Given the description of an element on the screen output the (x, y) to click on. 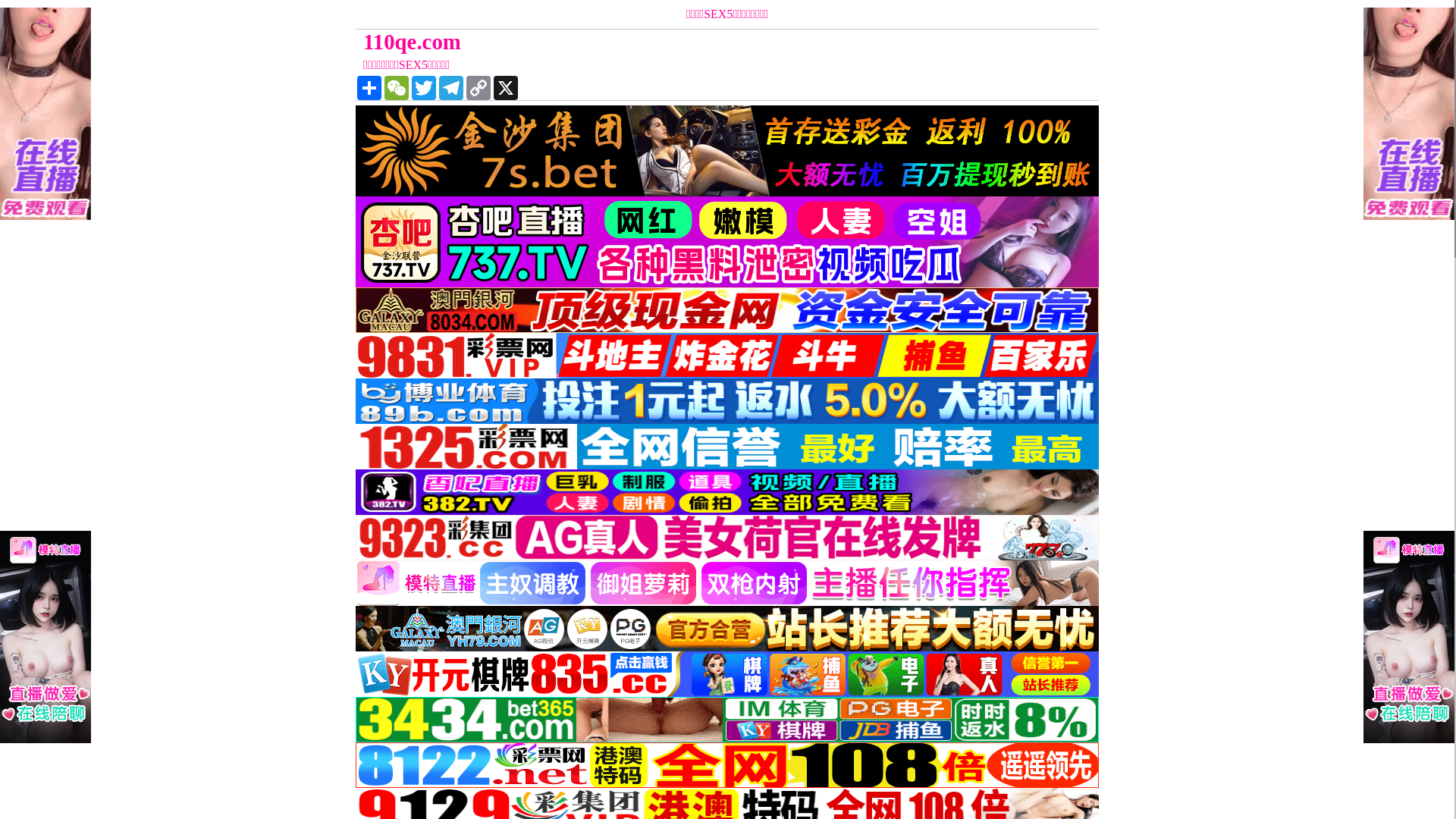
Copy Link Element type: text (478, 87)
WeChat Element type: text (396, 87)
Telegram Element type: text (450, 87)
Twitter Element type: text (423, 87)
X Element type: text (505, 87)
110qe.com Element type: text (634, 41)
